Given the description of an element on the screen output the (x, y) to click on. 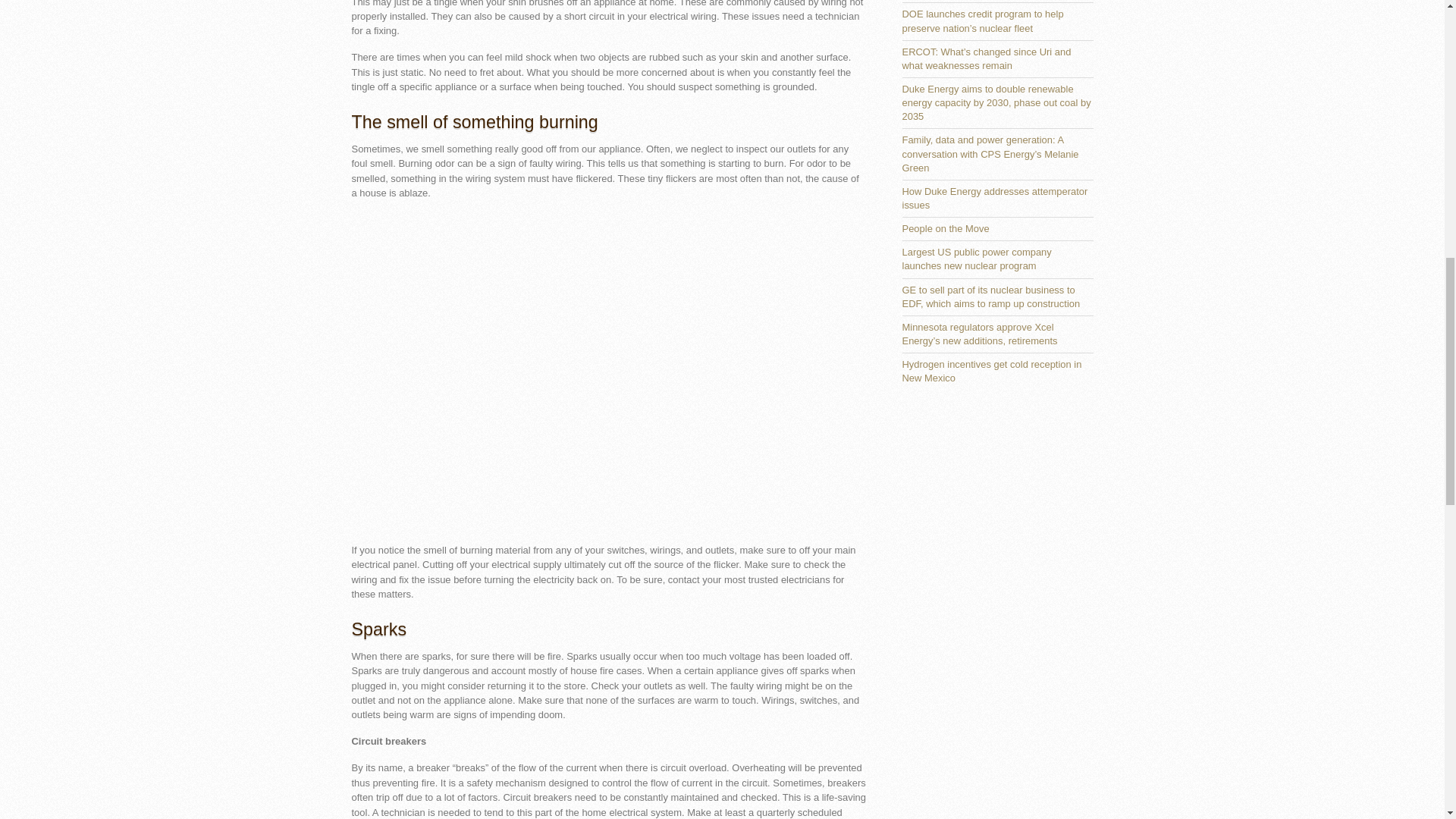
How Duke Energy addresses attemperator issues (994, 197)
People on the Move (946, 228)
Hydrogen incentives get cold reception in New Mexico (991, 371)
Largest US public power company launches new nuclear program (976, 258)
